Given the description of an element on the screen output the (x, y) to click on. 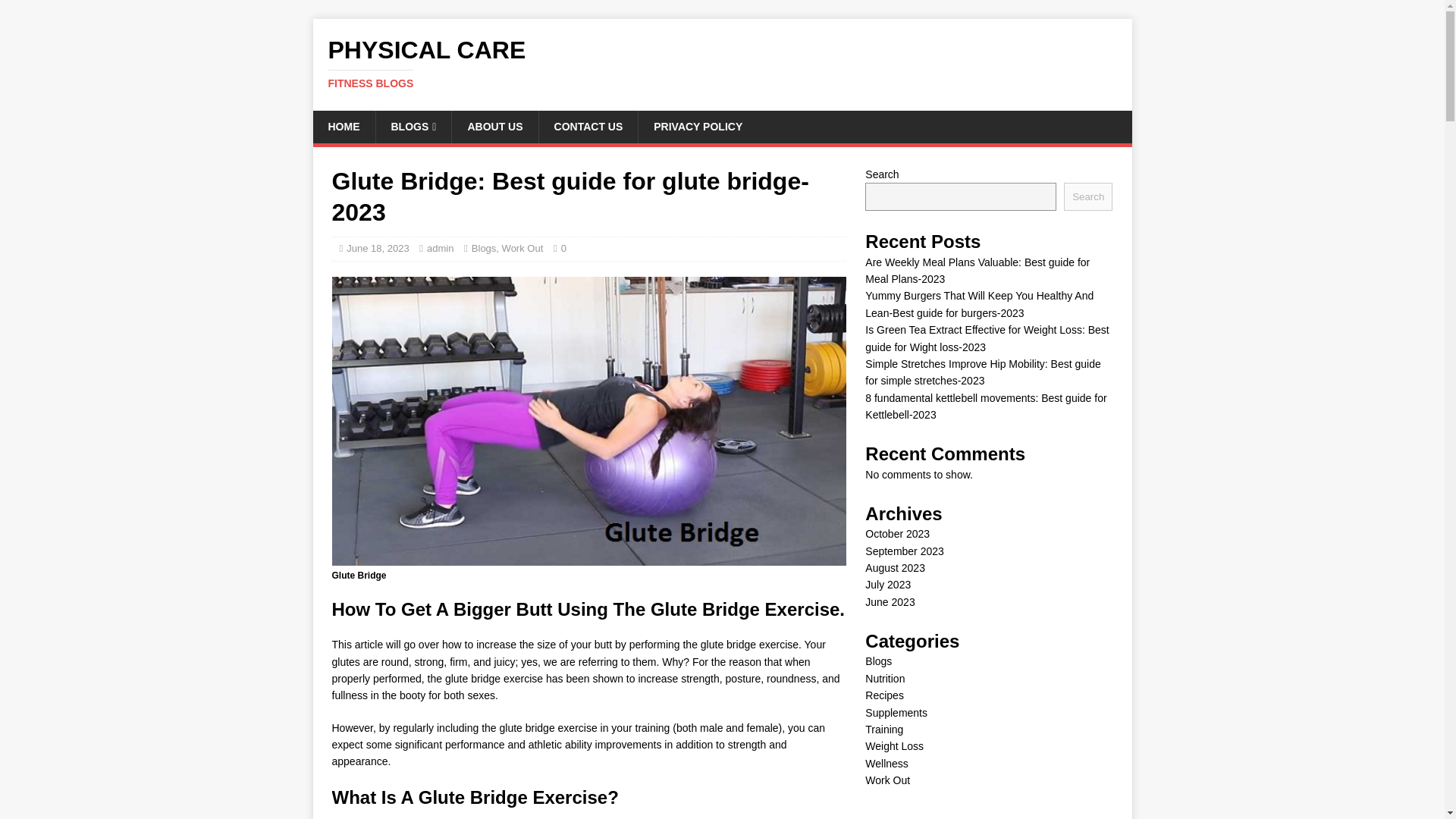
June 18, 2023 (721, 63)
Work Out (377, 247)
admin (522, 247)
ABOUT US (439, 247)
CONTACT US (494, 126)
HOME (588, 126)
BLOGS (343, 126)
Glute Bridge (412, 126)
Physical Care (697, 126)
Blogs (721, 63)
